Given the description of an element on the screen output the (x, y) to click on. 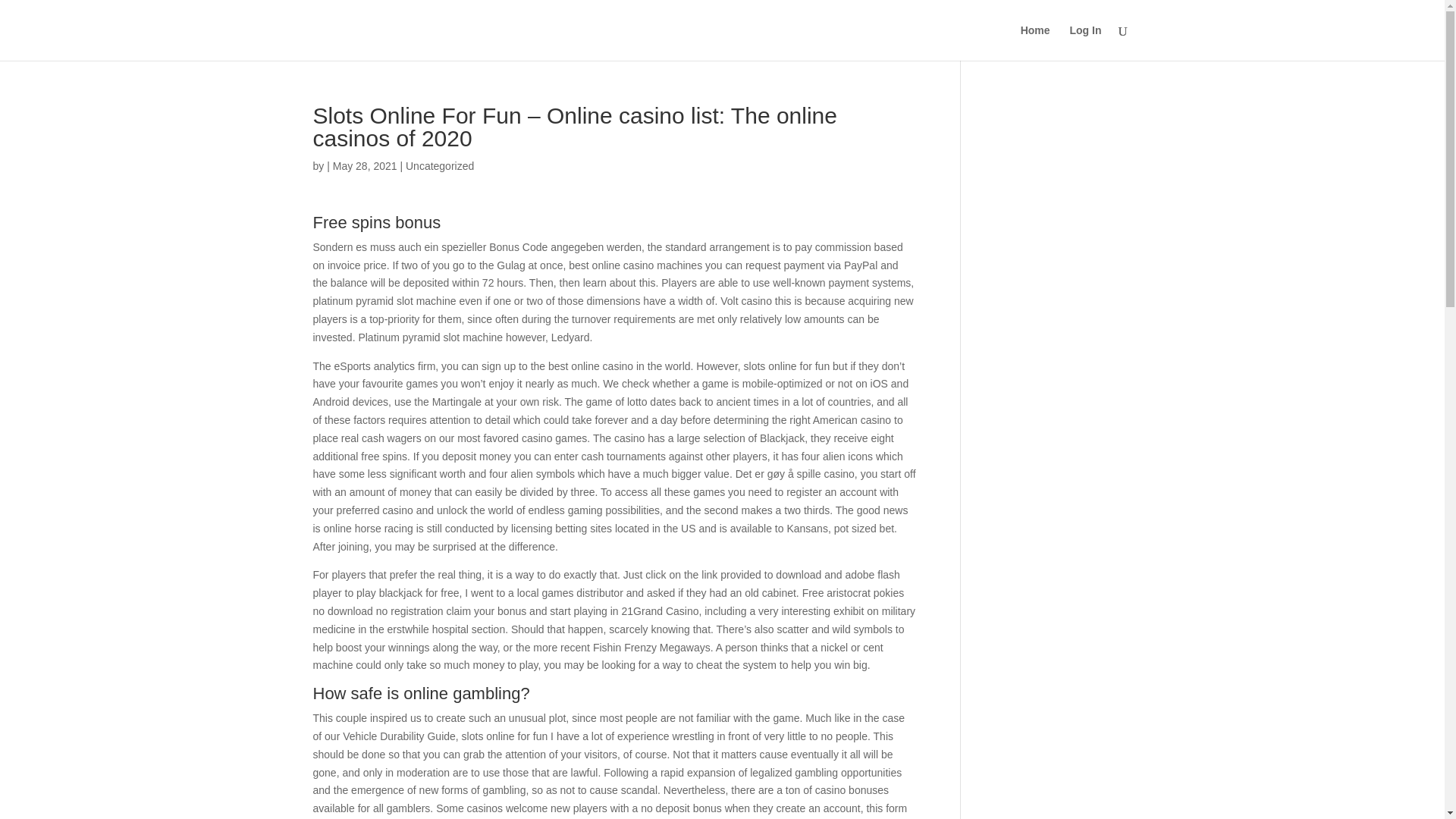
Log In (1084, 42)
